Given the description of an element on the screen output the (x, y) to click on. 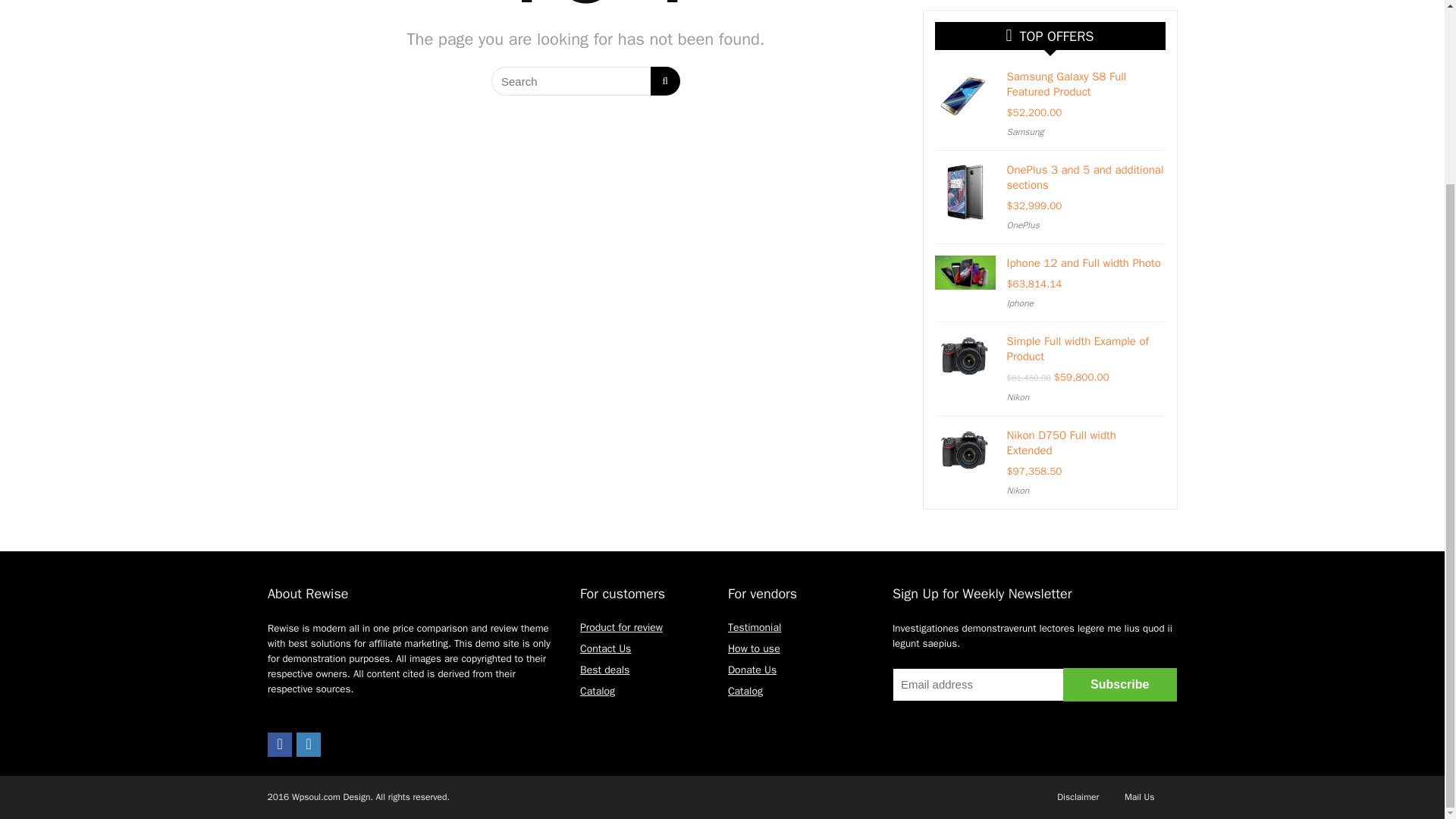
Facebook (279, 744)
Subscribe (1119, 684)
Instagramm (308, 744)
